Given the description of an element on the screen output the (x, y) to click on. 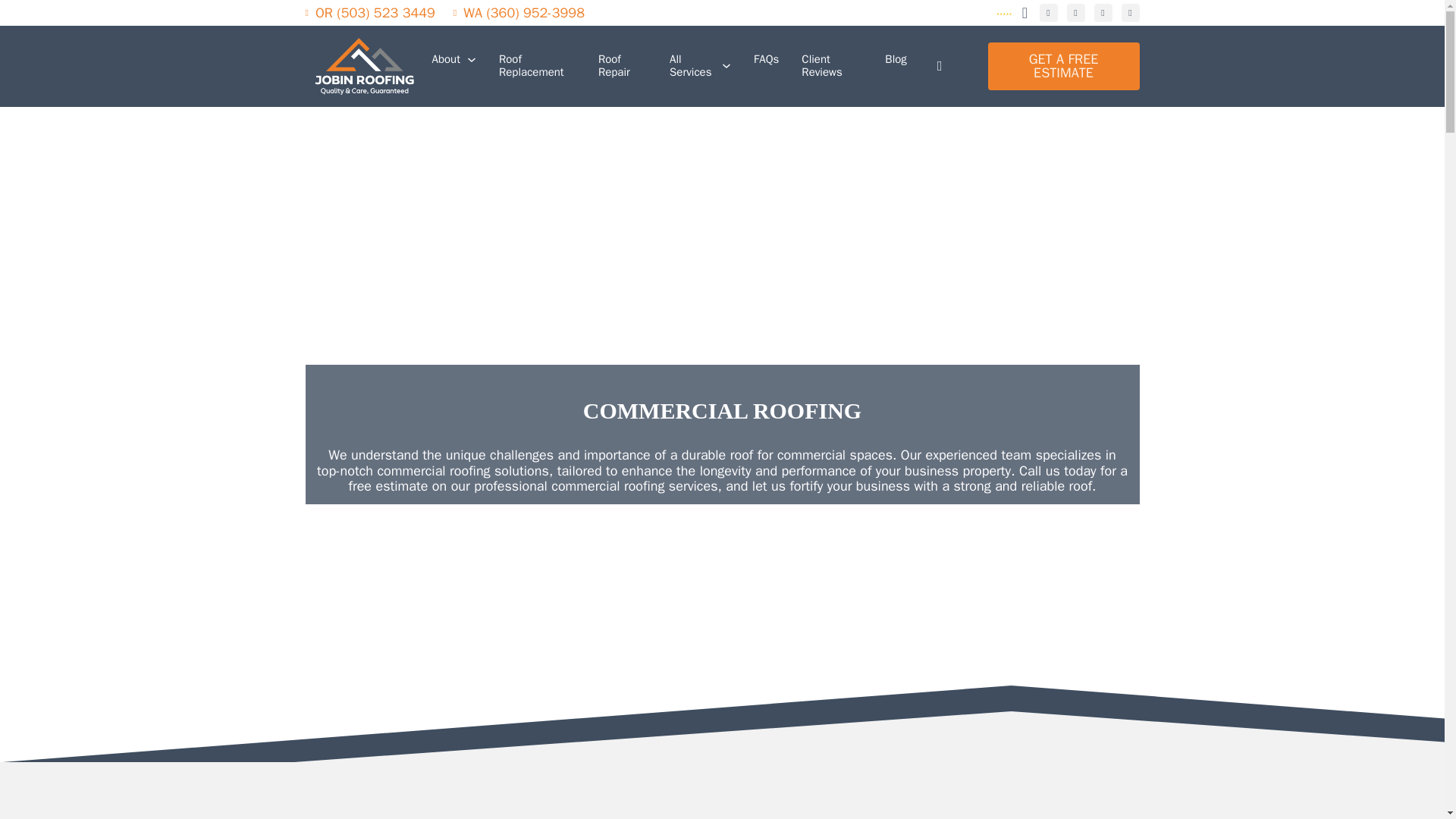
About (446, 60)
FOLLOW ME ON LINKEDIN (1102, 13)
FOLLOW ME ON FACEBOOK (1048, 13)
FOLLOW ME ON TWITTER (1074, 13)
Roof Repair (622, 66)
Roof Replacement (537, 66)
FOLLOW ME ON LINKEDIN (1129, 13)
Client Reviews (831, 66)
All Services (691, 66)
